Given the description of an element on the screen output the (x, y) to click on. 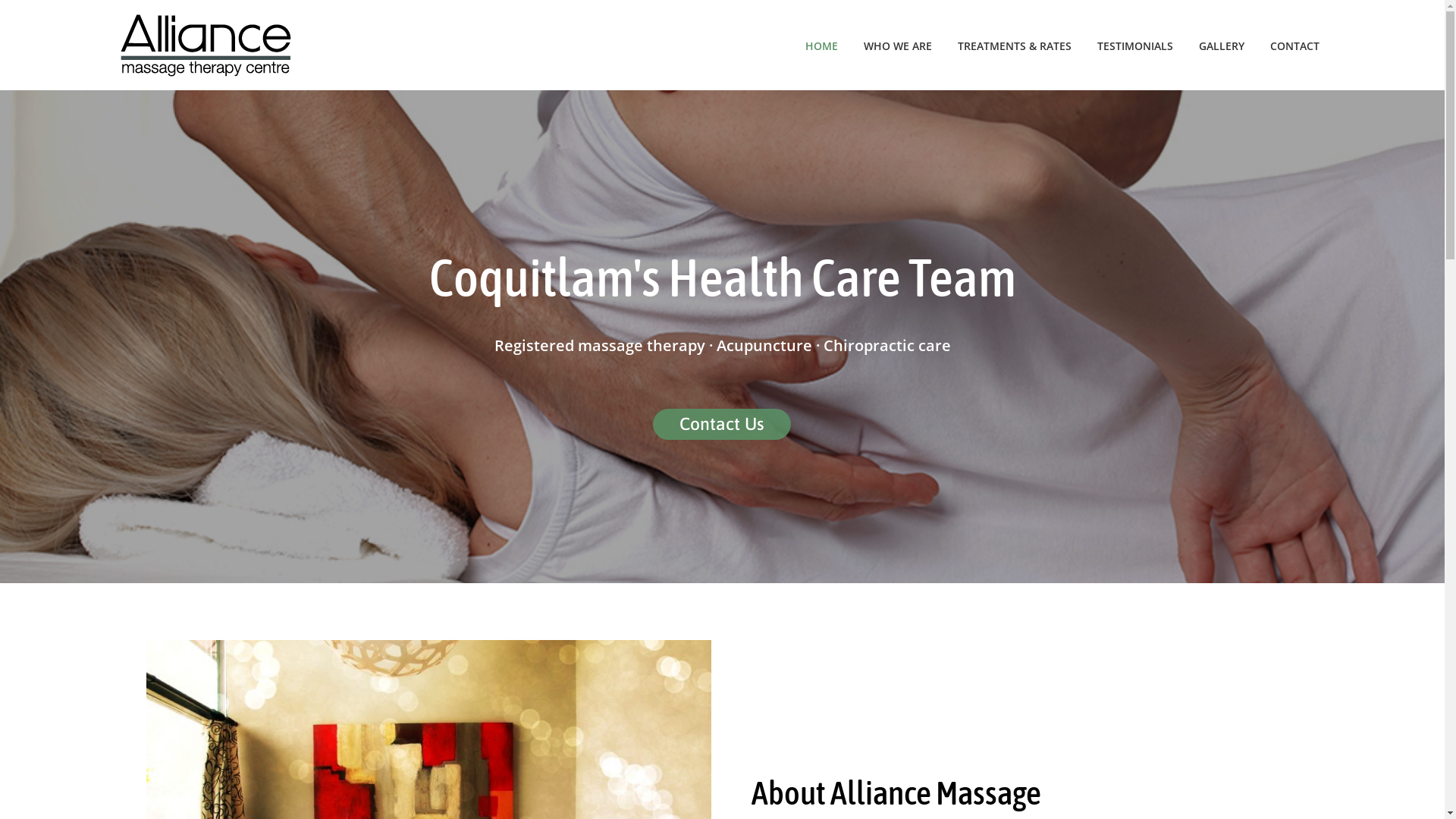
HOME Element type: text (821, 44)
WHO WE ARE Element type: text (897, 44)
TESTIMONIALS Element type: text (1135, 44)
GALLERY Element type: text (1221, 44)
CONTACT Element type: text (1294, 44)
TREATMENTS & RATES Element type: text (1014, 44)
